Given the description of an element on the screen output the (x, y) to click on. 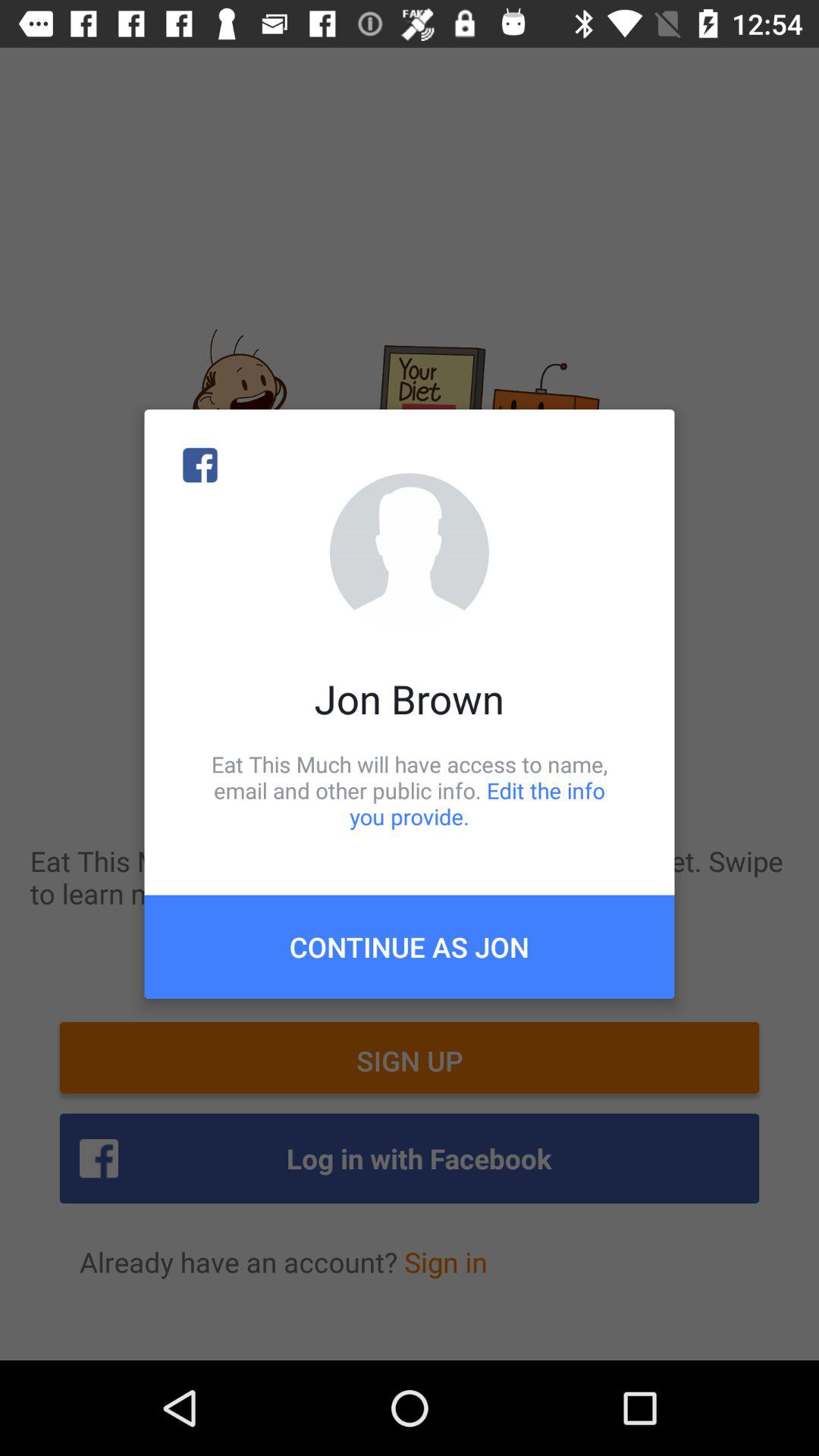
choose eat this much (409, 790)
